Given the description of an element on the screen output the (x, y) to click on. 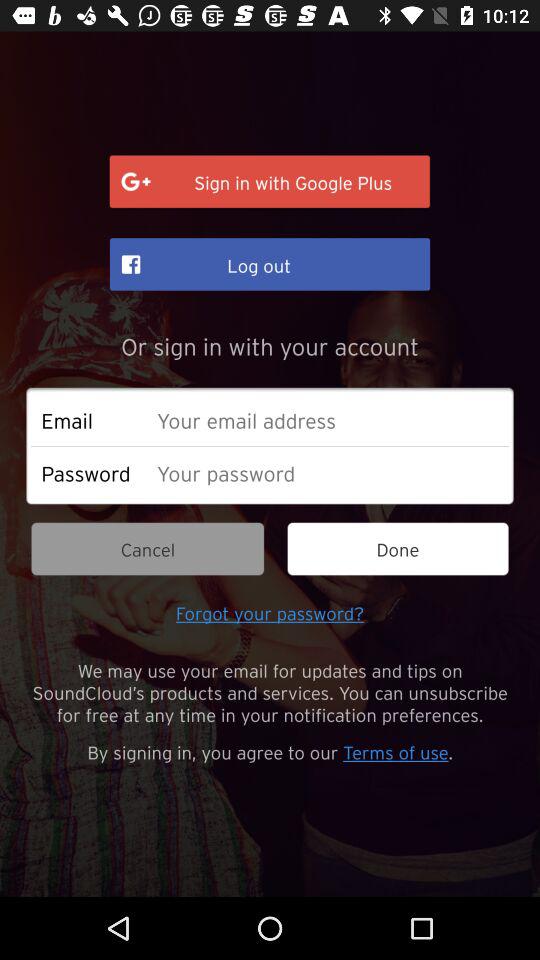
turn off the item below we may use icon (269, 751)
